Given the description of an element on the screen output the (x, y) to click on. 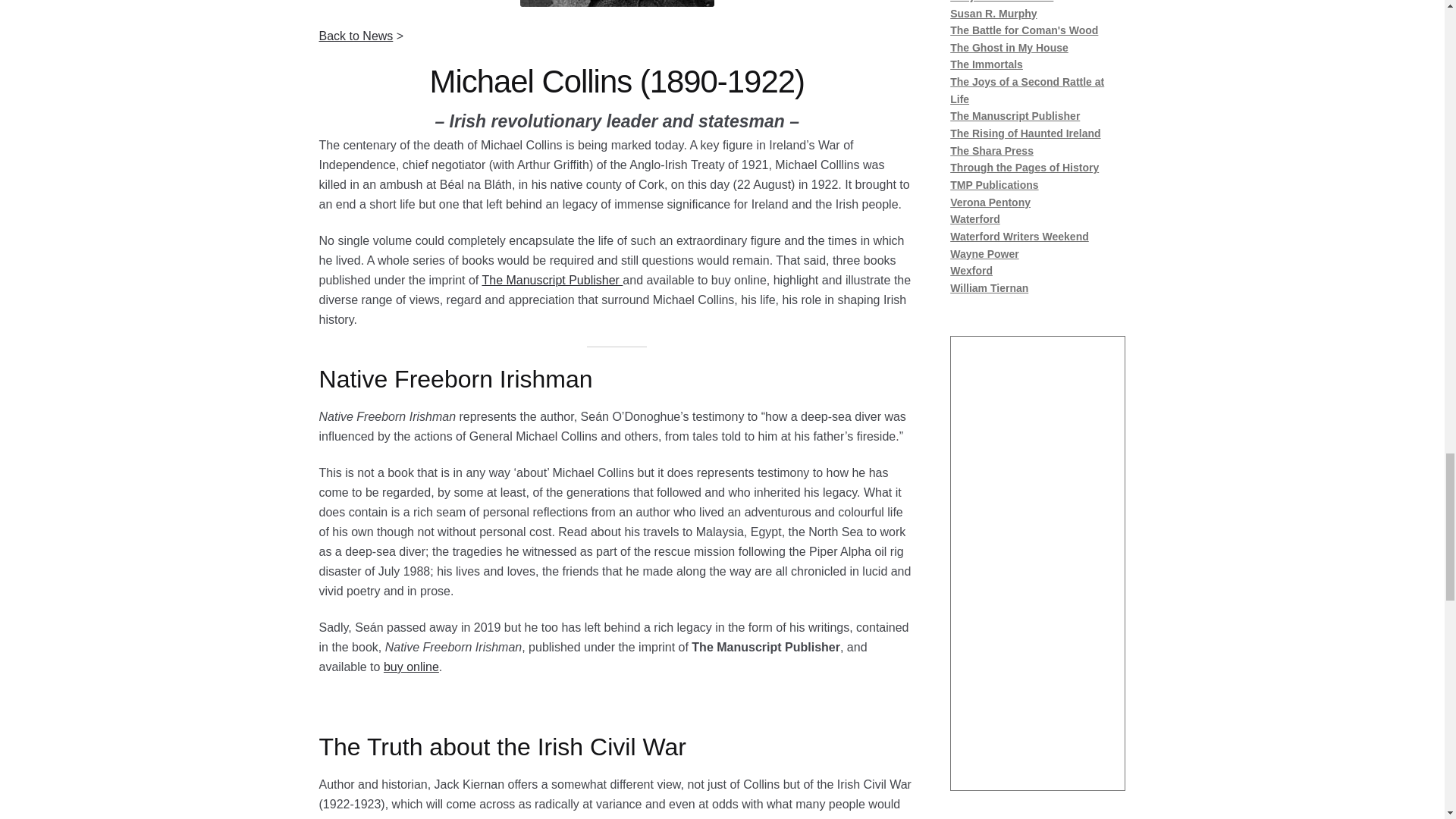
Browse the archives (355, 34)
Native Freeborn Irishman (411, 666)
Publishing solutions for the digital age (552, 279)
